Given the description of an element on the screen output the (x, y) to click on. 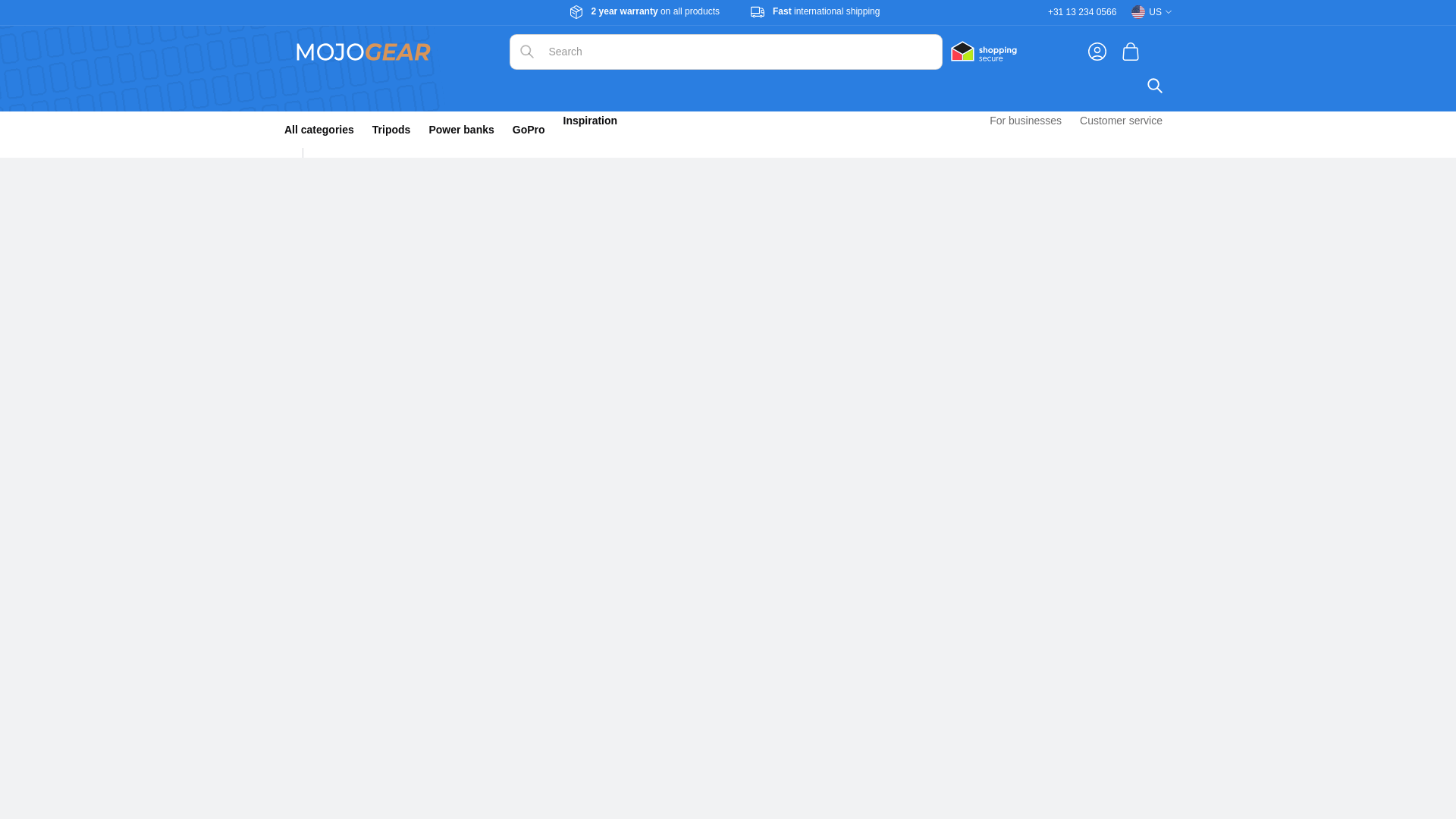
Fast international shipping (826, 10)
Skip to content (45, 18)
US (1151, 11)
2 year warranty on all products (655, 12)
